Given the description of an element on the screen output the (x, y) to click on. 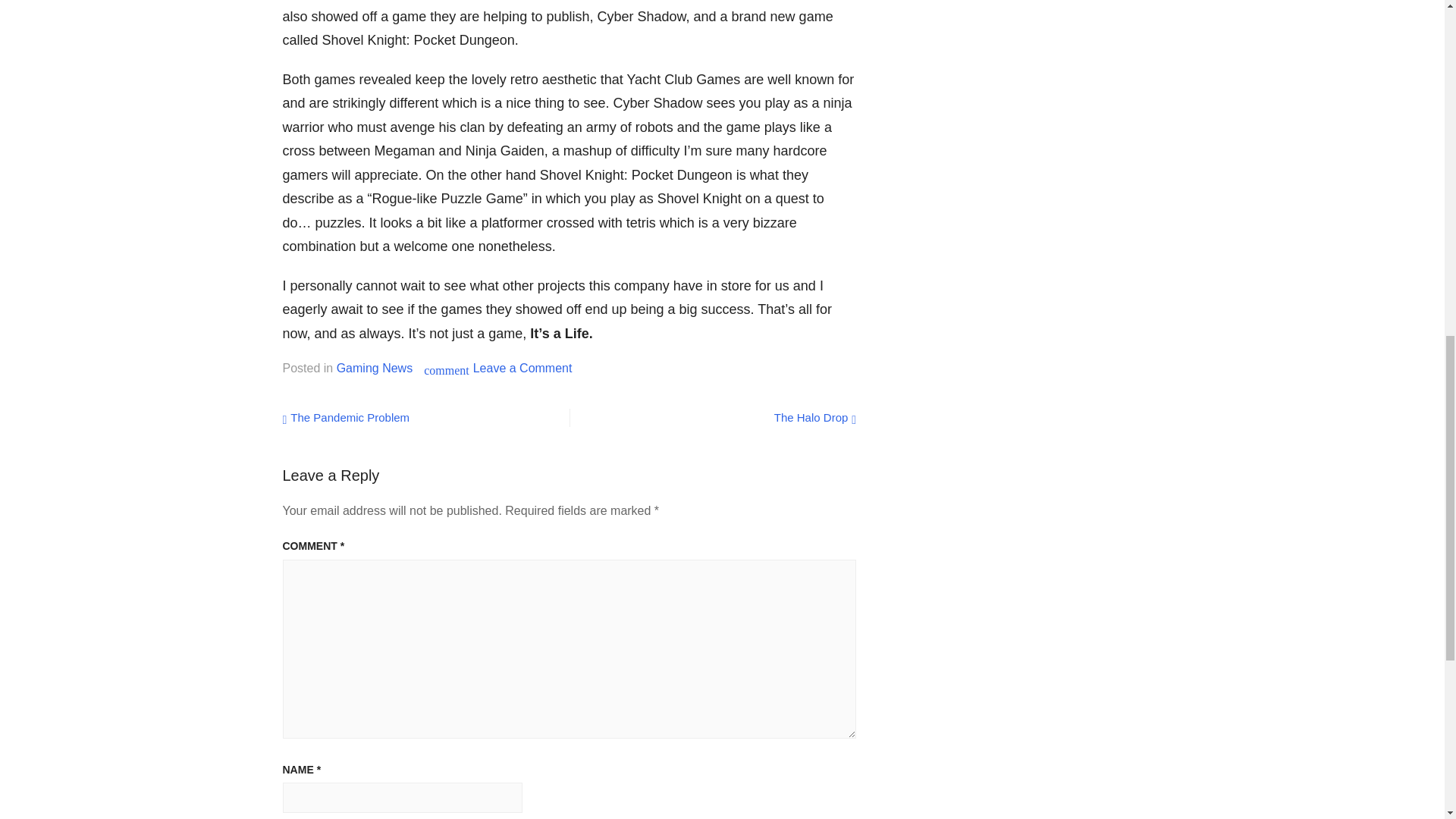
The Halo Drop (815, 417)
The Pandemic Problem (522, 367)
Gaming News (345, 417)
